Given the description of an element on the screen output the (x, y) to click on. 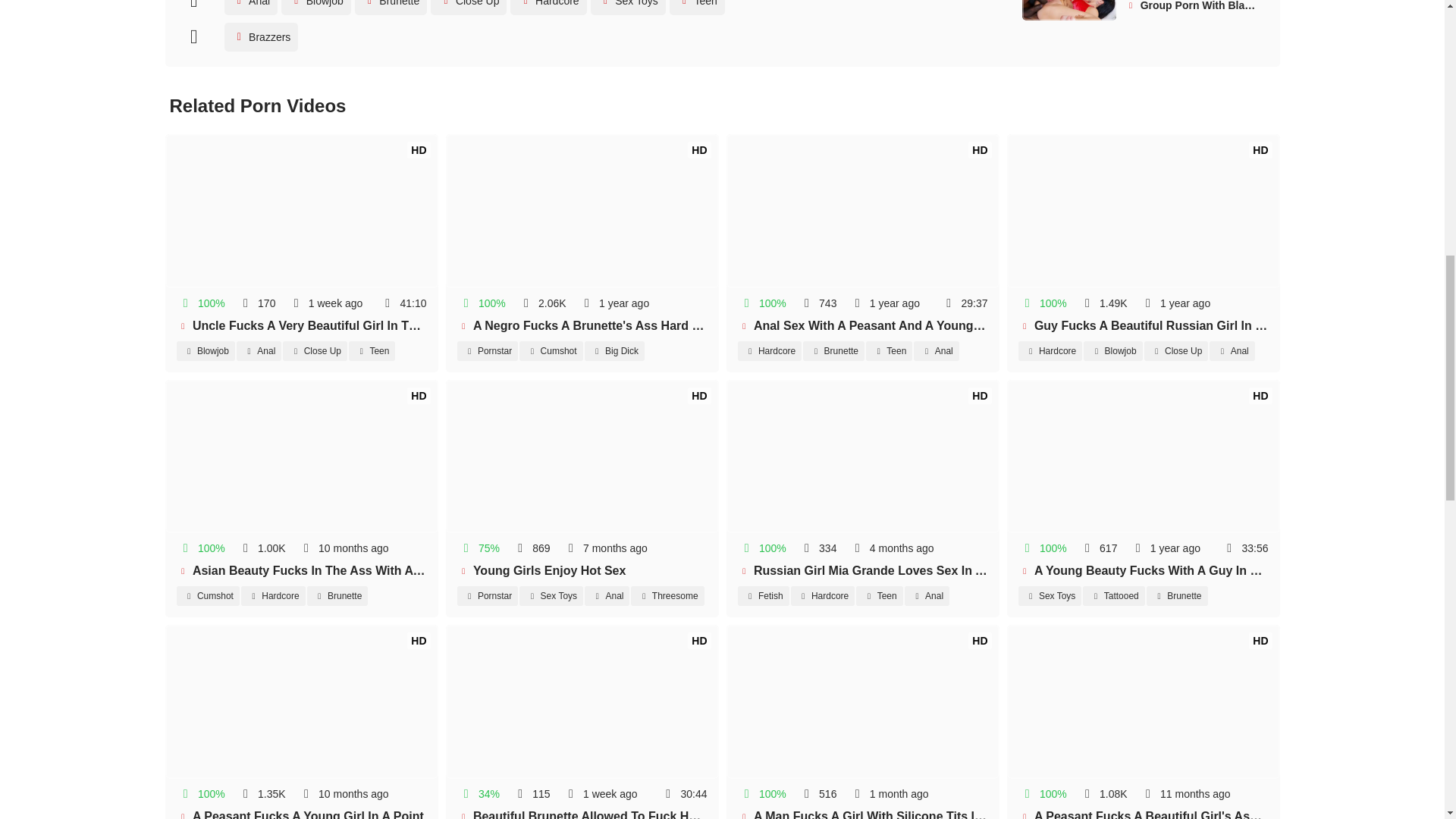
Teen (697, 7)
Close Up (468, 7)
Anal (251, 7)
Sex Toys (628, 7)
Hardcore (548, 7)
Brunette (391, 7)
Blowjob (315, 7)
Brazzers (261, 36)
